Given the description of an element on the screen output the (x, y) to click on. 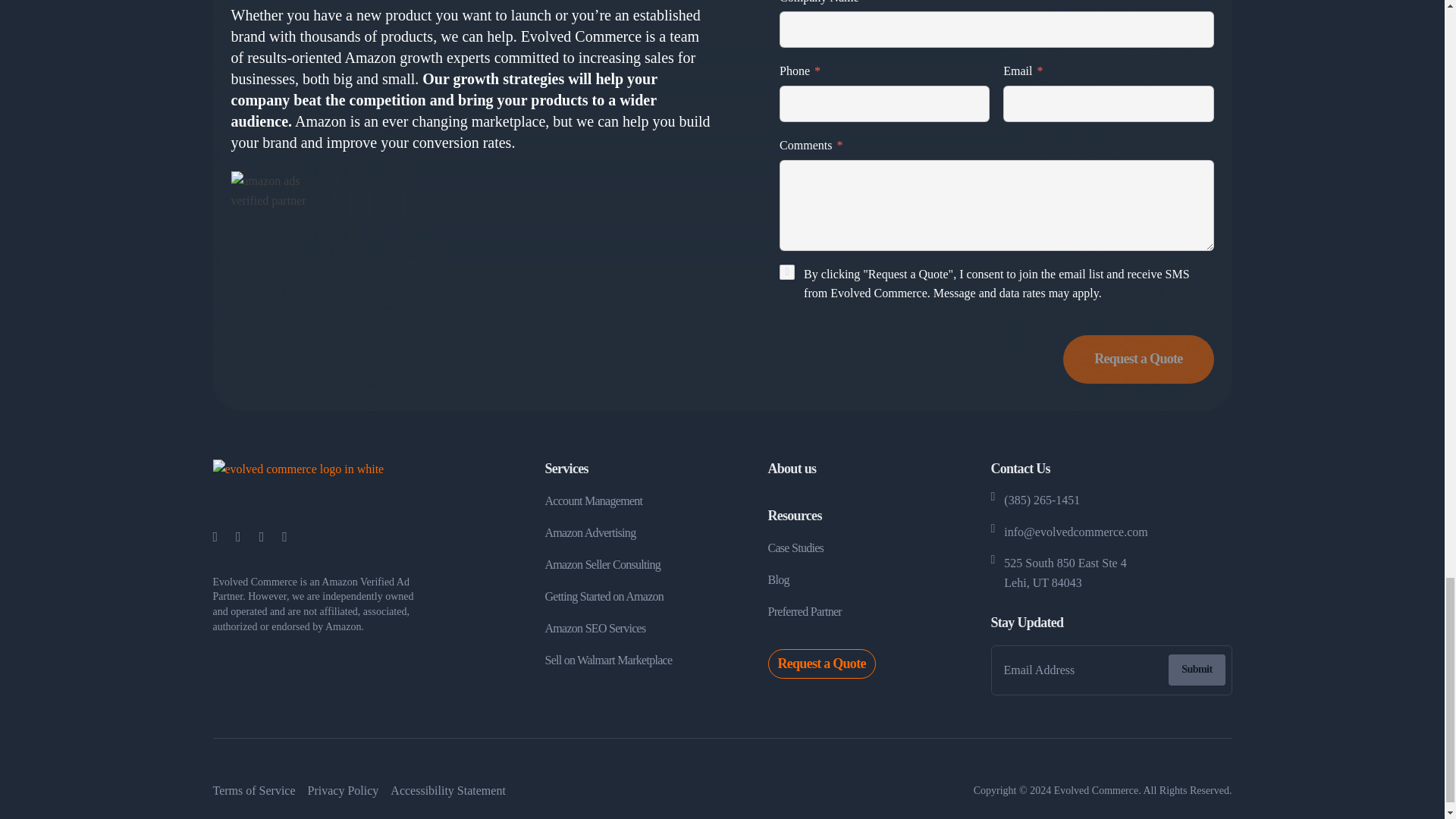
Request a Quote (1137, 359)
Yes (786, 272)
Submit (1196, 669)
